Given the description of an element on the screen output the (x, y) to click on. 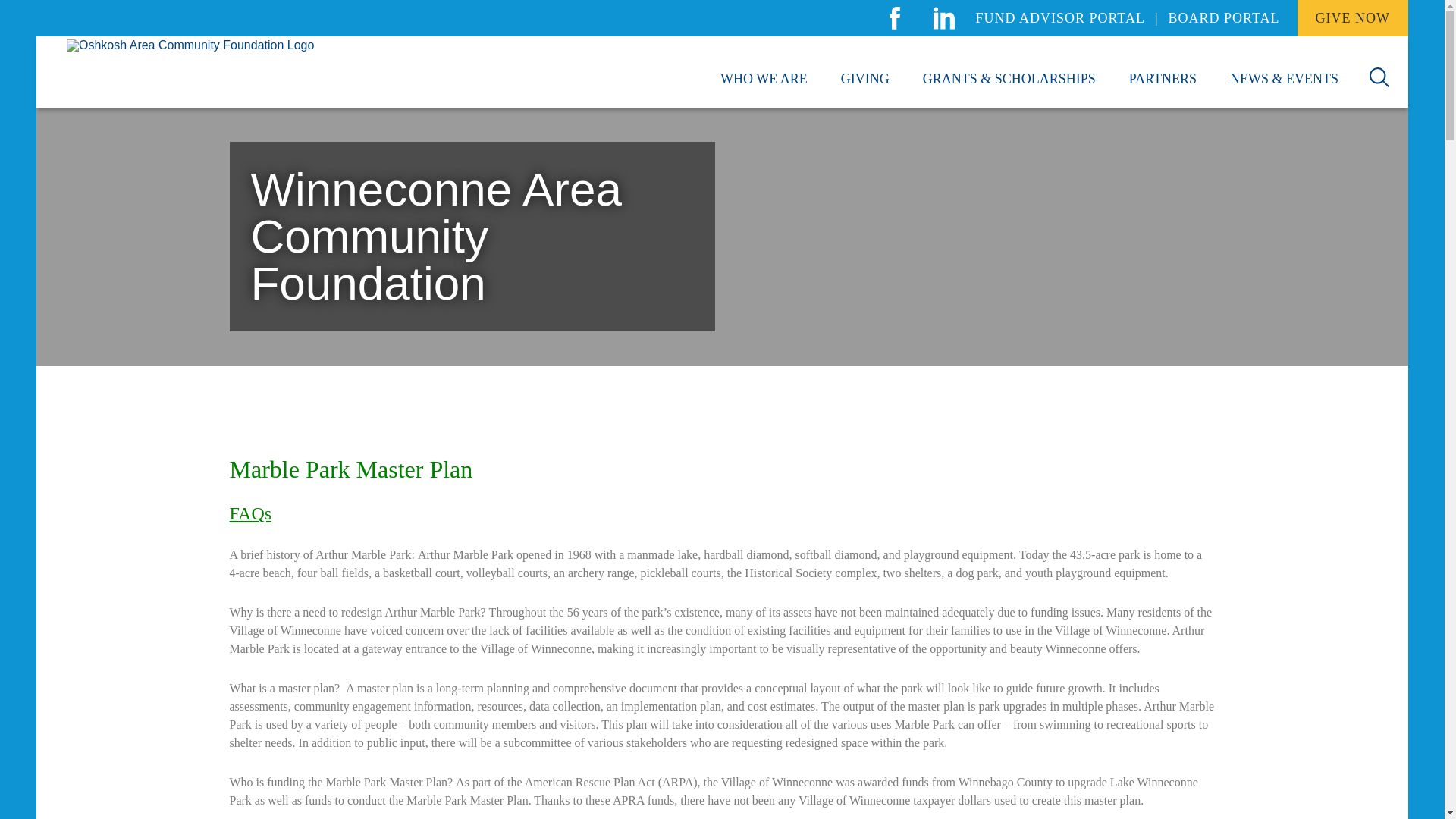
BOARD PORTAL (1223, 18)
FUND ADVISOR PORTAL (1060, 18)
FACEBOOK (894, 18)
LINKEDIN (944, 18)
GIVE NOW (1352, 18)
